Given the description of an element on the screen output the (x, y) to click on. 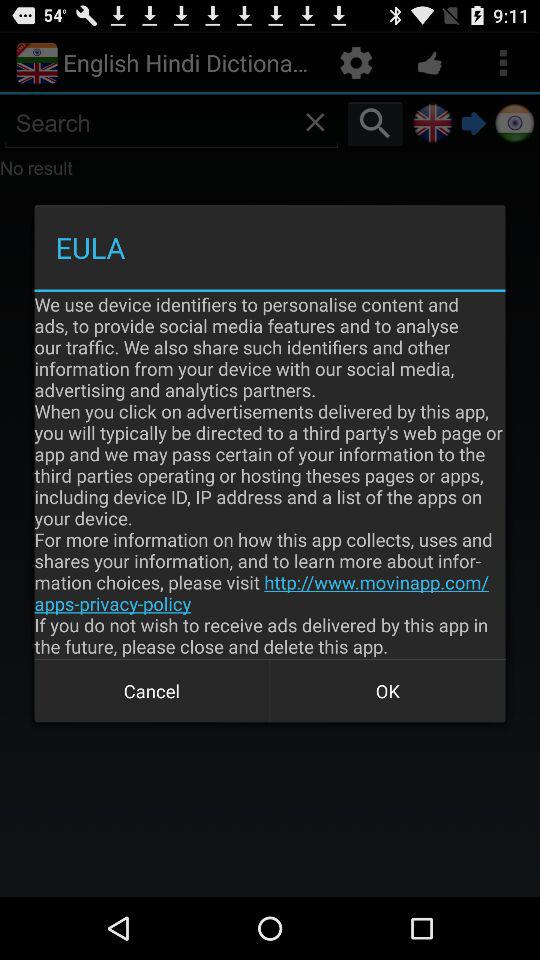
launch ok item (387, 690)
